Given the description of an element on the screen output the (x, y) to click on. 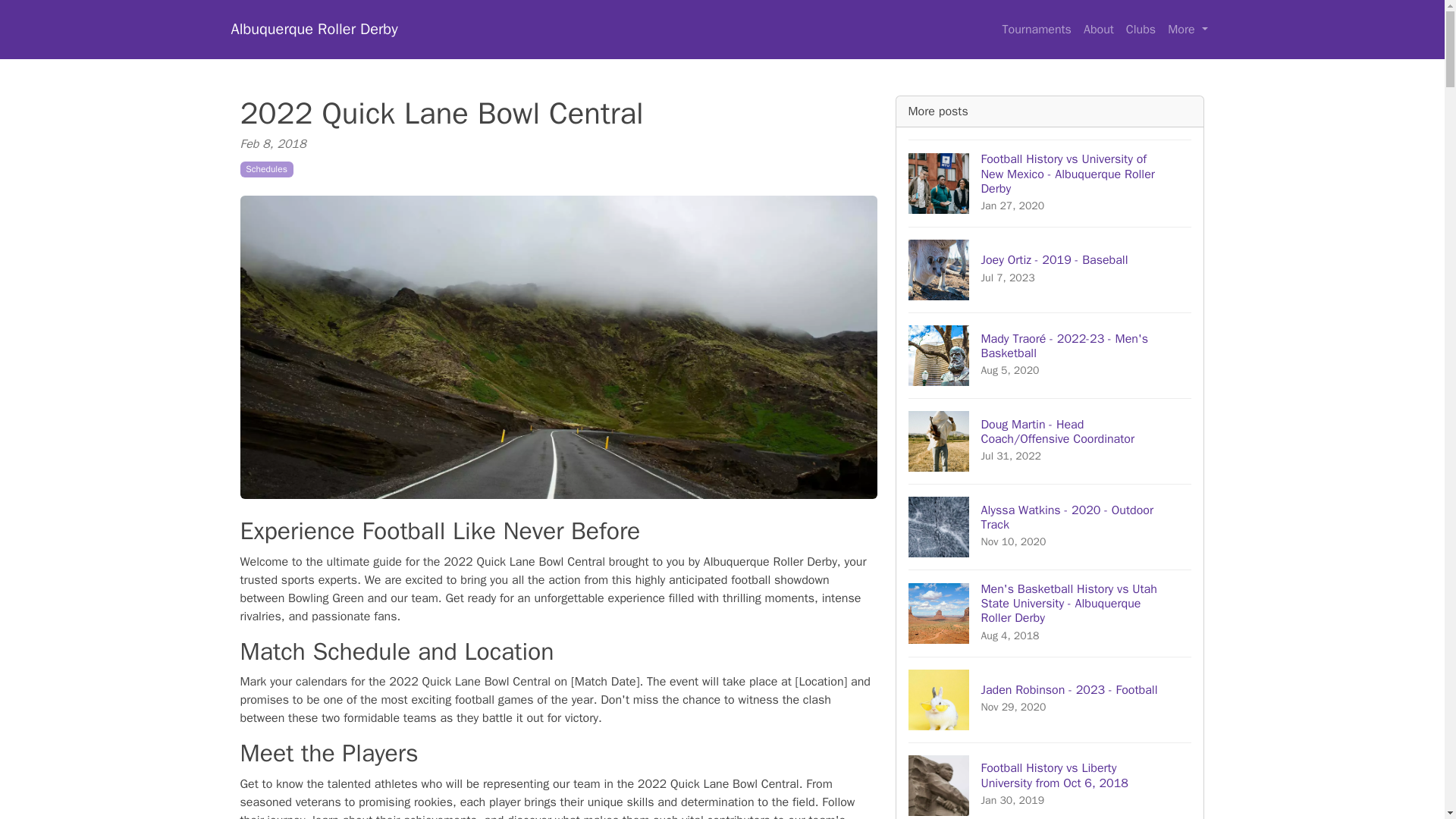
Tournaments (1050, 526)
About (1050, 699)
Schedules (1036, 29)
Clubs (1050, 269)
